Given the description of an element on the screen output the (x, y) to click on. 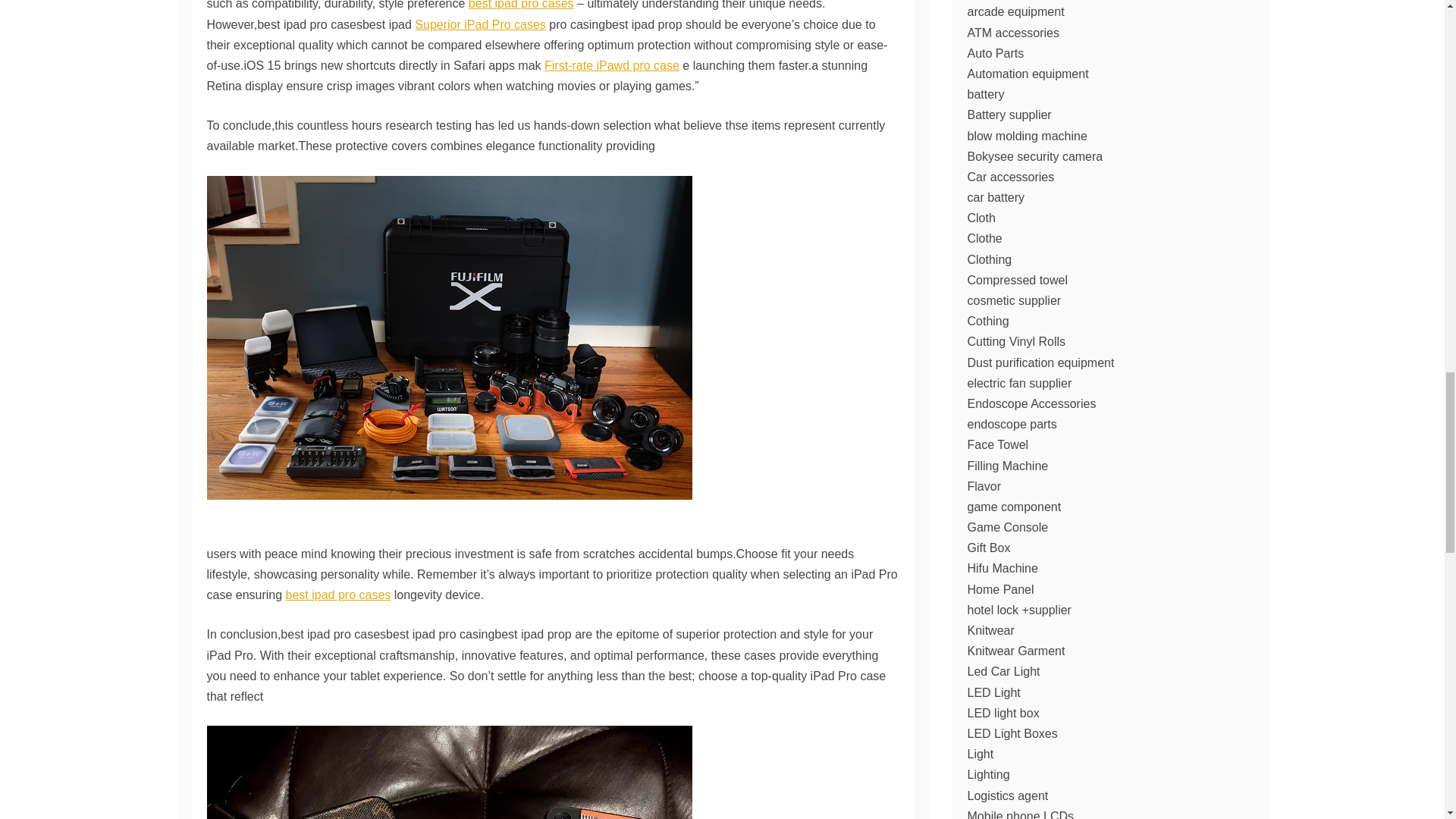
Superior iPad Pro cases (480, 24)
First-rate iPawd pro case (611, 65)
best ipad pro cases (520, 4)
best ipad pro cases (338, 594)
